Given the description of an element on the screen output the (x, y) to click on. 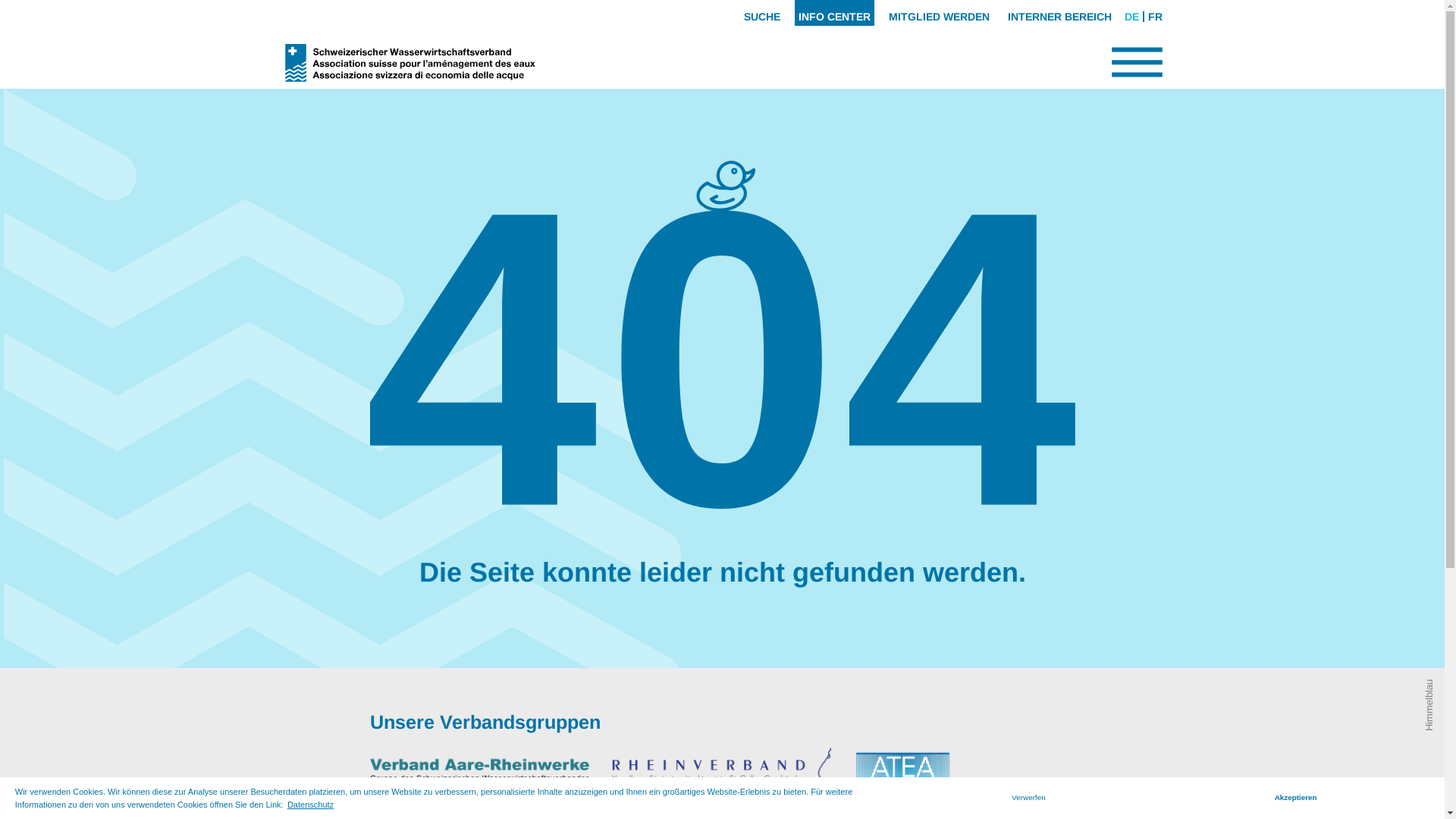
INTERNER BEREICH Element type: text (1059, 12)
MITGLIED WERDEN Element type: text (938, 12)
Die Seite konnte leider nicht gefunden werden. Element type: text (721, 571)
ATEA Element type: hover (964, 773)
RhV Element type: hover (721, 773)
INFO CENTER Element type: text (834, 12)
Datenschutz Element type: text (310, 803)
SUCHE Element type: text (762, 12)
VAR Element type: hover (479, 773)
Home Element type: hover (722, 334)
DE Element type: text (1131, 16)
FR Element type: text (1153, 16)
Akzeptieren Element type: text (1295, 797)
Verwerfen Element type: text (1028, 797)
